Given the description of an element on the screen output the (x, y) to click on. 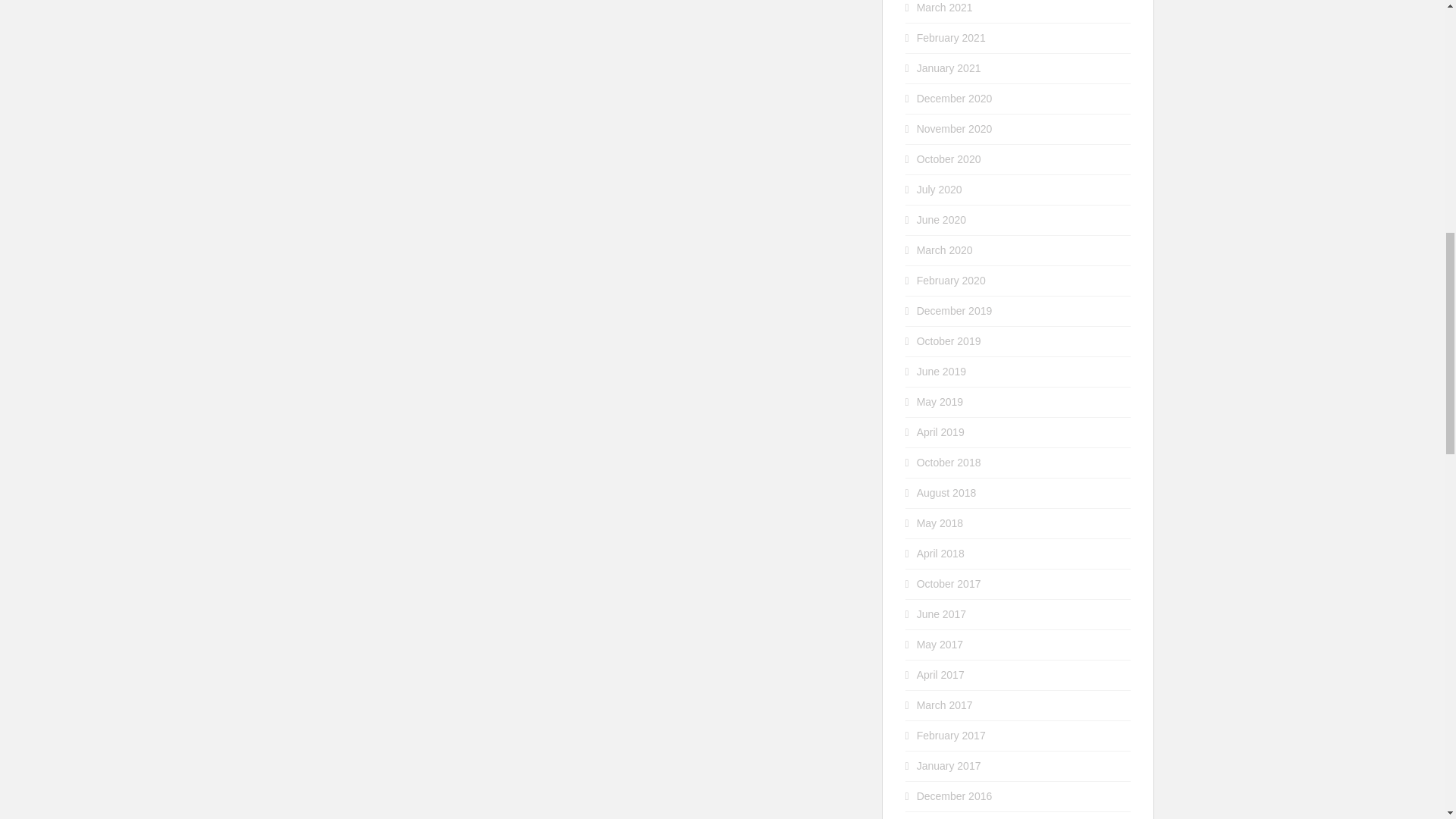
July 2020 (939, 189)
November 2020 (954, 128)
January 2021 (949, 68)
June 2020 (941, 219)
December 2020 (954, 98)
December 2019 (954, 310)
October 2019 (949, 340)
April 2019 (940, 431)
February 2020 (951, 280)
October 2020 (949, 159)
February 2021 (951, 37)
March 2020 (944, 250)
May 2019 (939, 401)
March 2021 (944, 7)
June 2019 (941, 371)
